Given the description of an element on the screen output the (x, y) to click on. 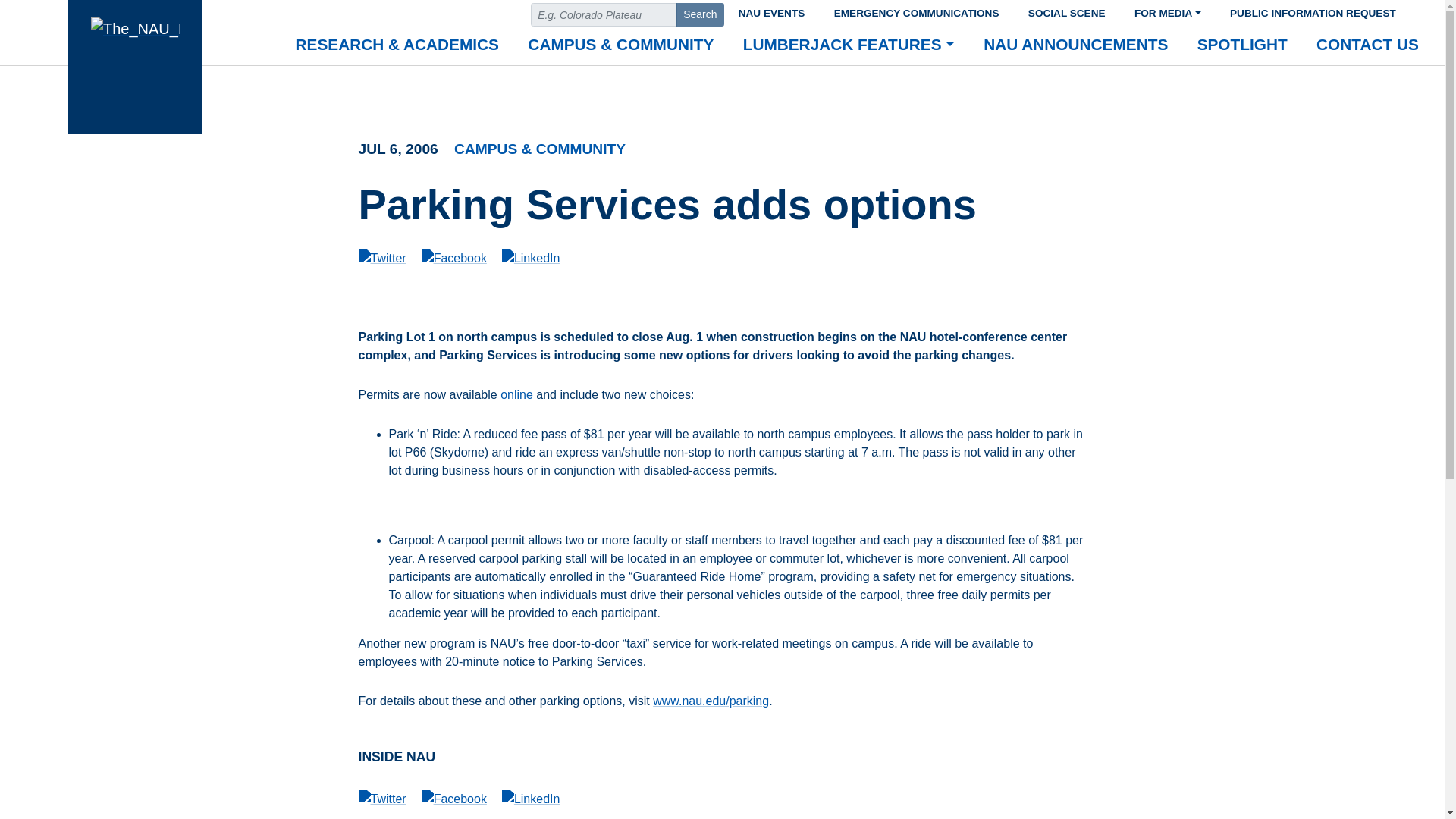
EMERGENCY COMMUNICATIONS (915, 10)
Social Scene (1066, 10)
Search (700, 14)
CONTACT US (1366, 45)
Public Information Request (1312, 10)
NAU Events (770, 10)
Emergency Communications (915, 10)
NAU ANNOUNCEMENTS (1075, 45)
LUMBERJACK FEATURES (848, 45)
SOCIAL SCENE (1066, 10)
PUBLIC INFORMATION REQUEST (1312, 10)
SPOTLIGHT (1241, 45)
NAU EVENTS (770, 10)
Search (700, 14)
Lumberjack Features (848, 45)
